Given the description of an element on the screen output the (x, y) to click on. 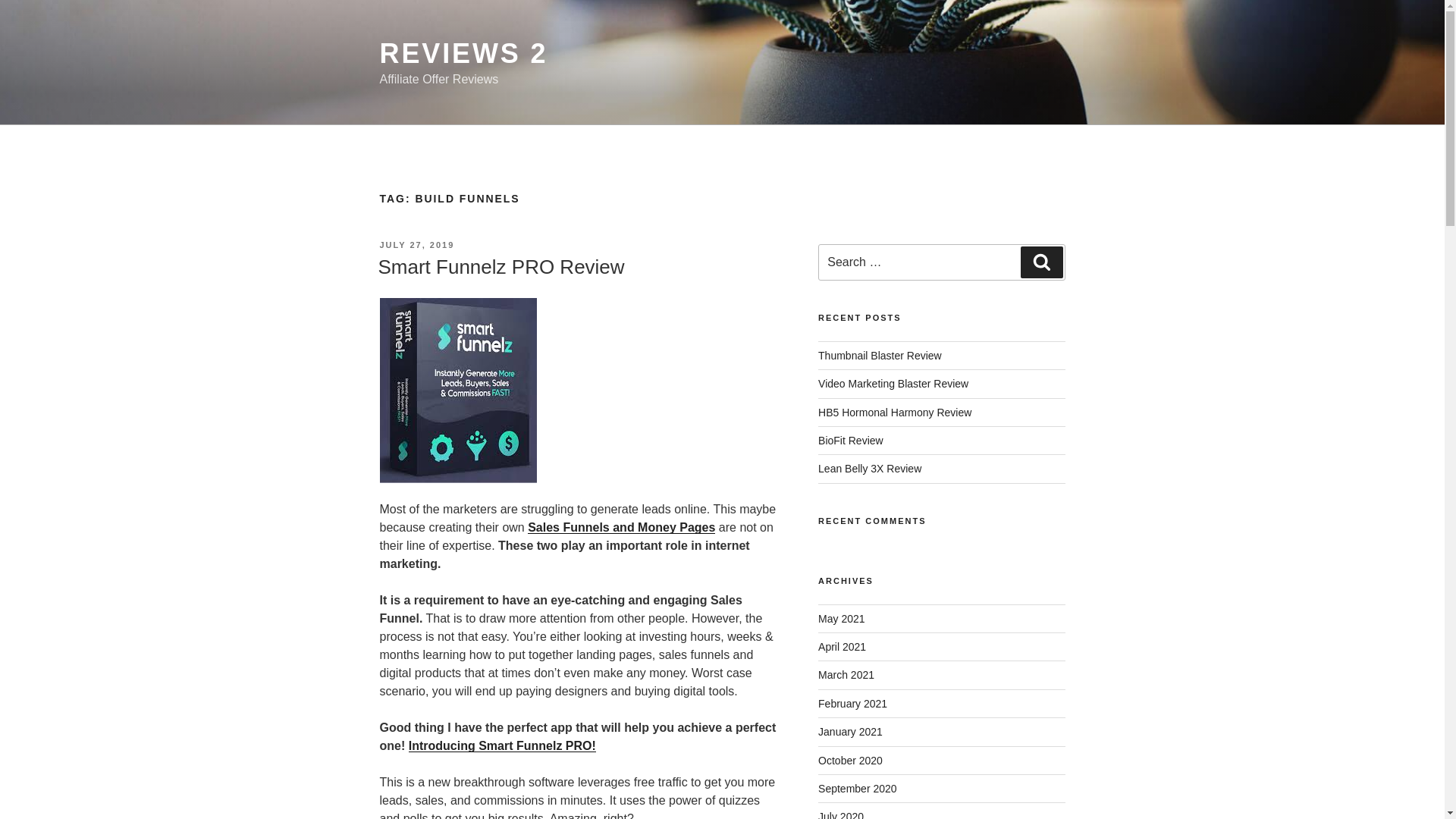
September 2020 (857, 788)
July 2020 (840, 814)
Lean Belly 3X Review (869, 468)
October 2020 (850, 760)
April 2021 (842, 646)
Search (1041, 262)
Thumbnail Blaster Review (880, 355)
Smart Funnelz PRO Review (500, 266)
Video Marketing Blaster Review (893, 383)
REVIEWS 2 (462, 52)
